Given the description of an element on the screen output the (x, y) to click on. 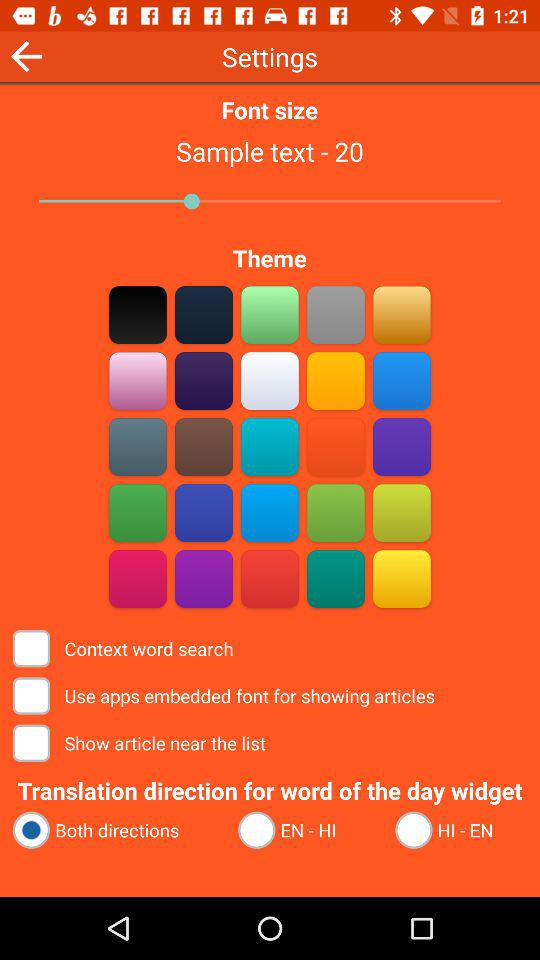
press the use apps embedded (225, 695)
